Given the description of an element on the screen output the (x, y) to click on. 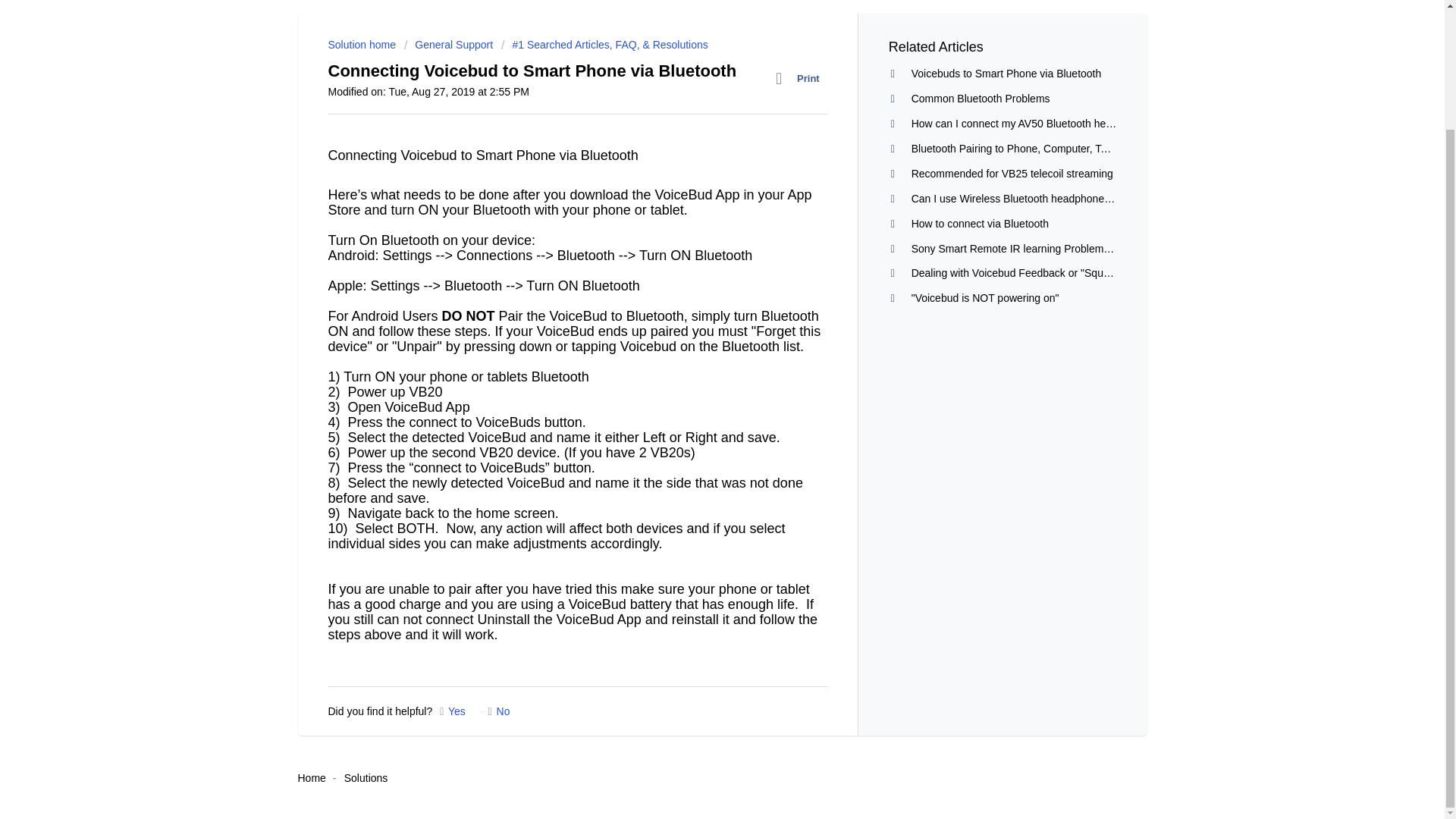
Bluetooth Pairing to Phone, Computer, Tablet, or Transmitter (1053, 148)
Voicebuds to Smart Phone via Bluetooth (1006, 73)
Solution home (362, 44)
"Voicebud is NOT powering on" (985, 297)
General Support (450, 44)
Recommended for VB25 telecoil streaming (1012, 173)
Common Bluetooth Problems (980, 98)
Dealing with Voicebud Feedback or "Squealing" (1023, 272)
Sony Smart Remote IR learning Problem Explained. (1033, 248)
How can I connect my AV50 Bluetooth headphones to my LG TV? (1066, 123)
Can I use Wireless Bluetooth headphones with a smart TV? (1051, 198)
Home (310, 777)
Print this Article (801, 78)
Solutions (365, 777)
Print (801, 78)
